Given the description of an element on the screen output the (x, y) to click on. 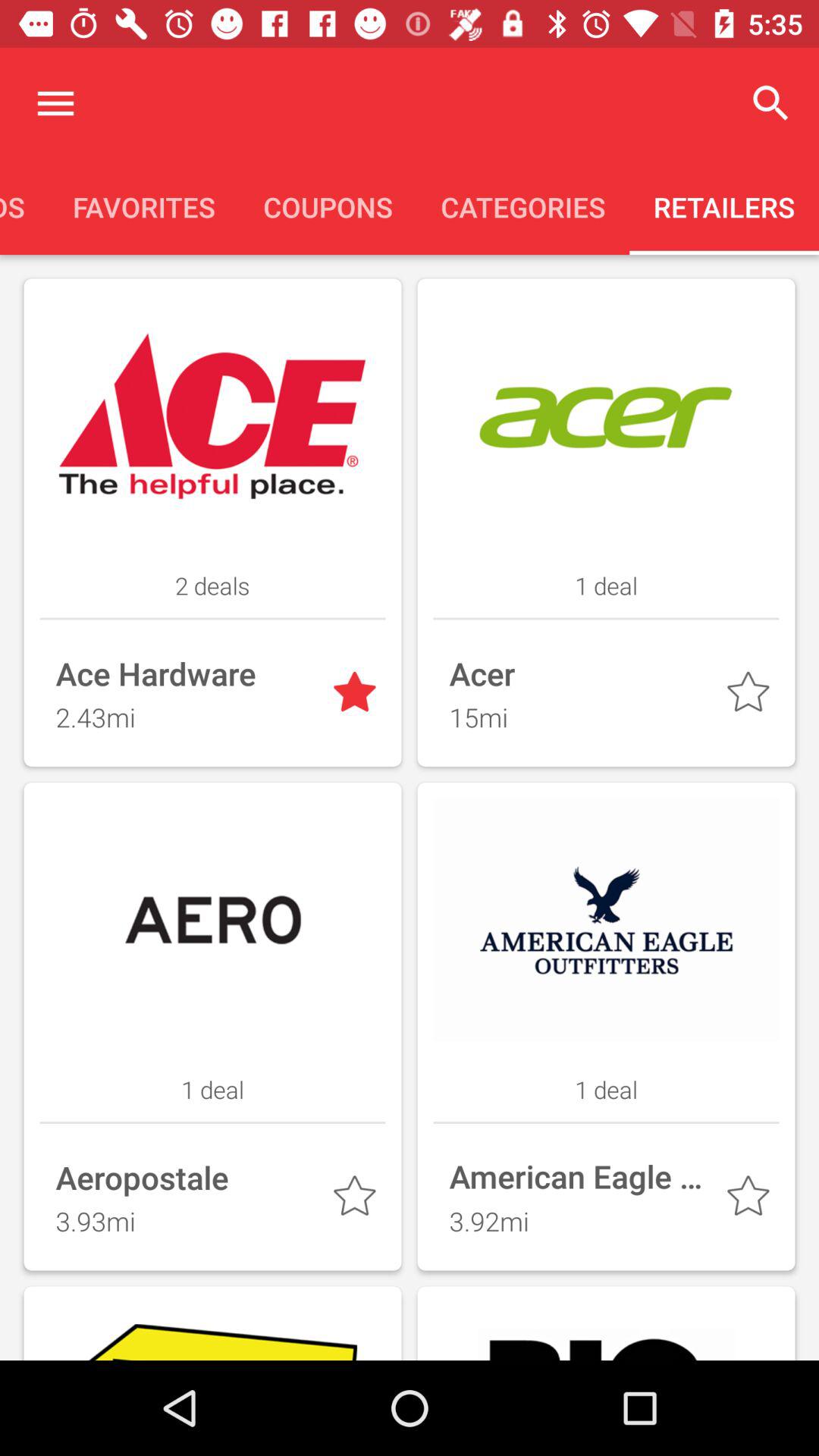
favorite ace (357, 695)
